Given the description of an element on the screen output the (x, y) to click on. 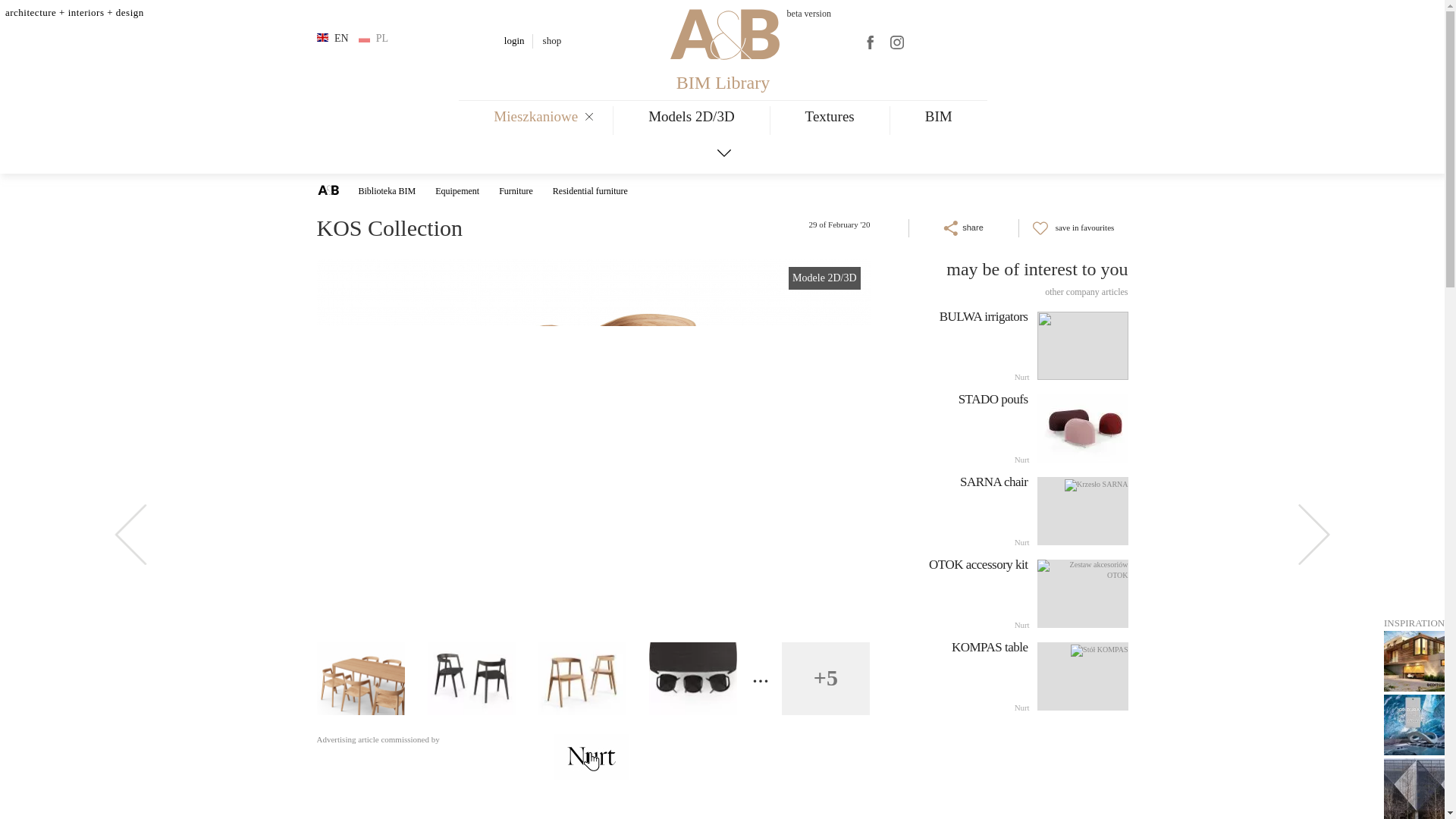
Textures (829, 120)
BIM Library (723, 82)
PL (374, 38)
login (513, 40)
BIM (938, 120)
shop (552, 40)
